Given the description of an element on the screen output the (x, y) to click on. 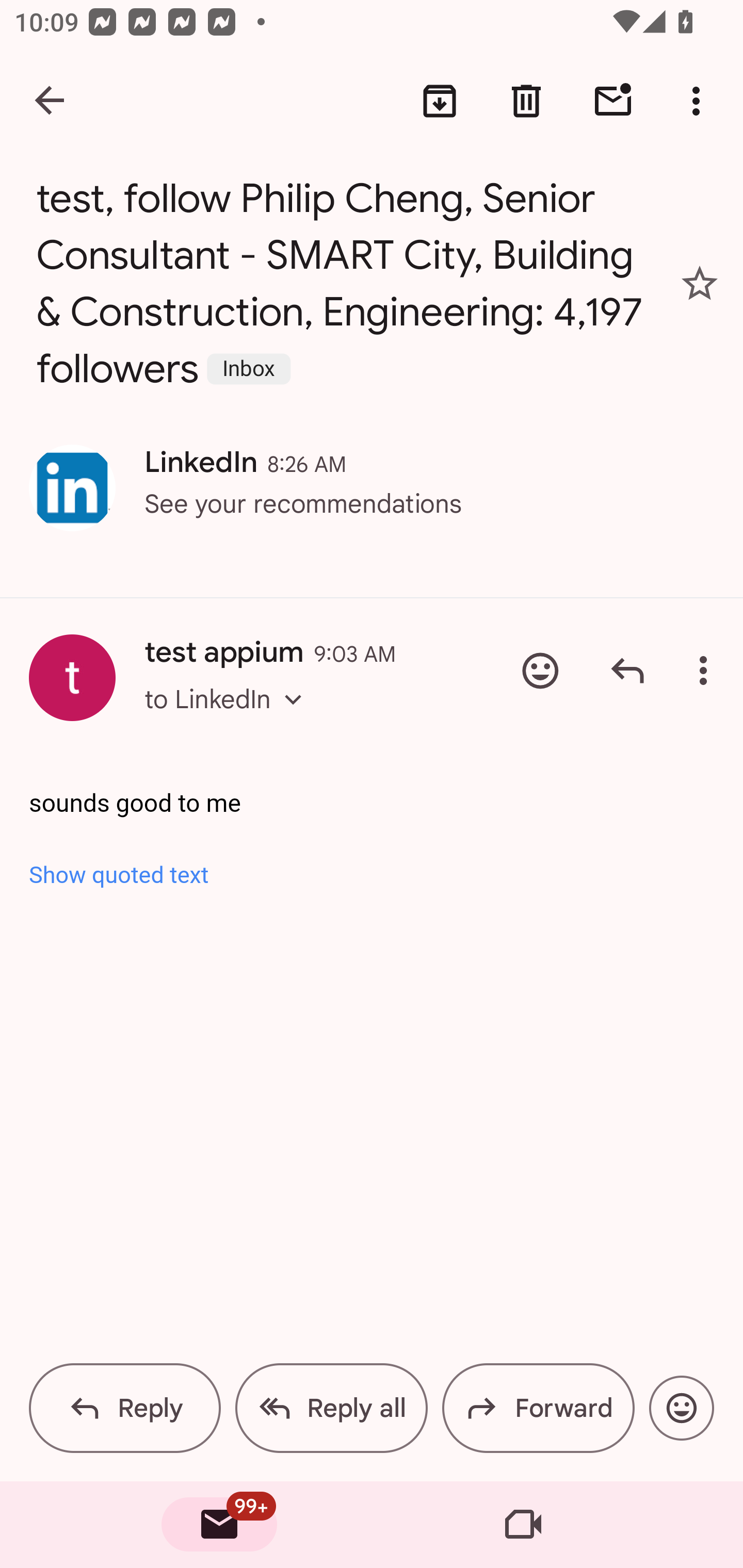
Navigate up (50, 101)
Archive (439, 101)
Delete (525, 101)
Mark unread (612, 101)
More options (699, 101)
Add star (699, 283)
Show contact information for LinkedIn (71, 488)
Add emoji reaction (540, 670)
Reply (626, 670)
More options (706, 670)
Show contact information for test appium (71, 678)
to LinkedIn (229, 717)
Reply (124, 1407)
Reply all (331, 1407)
Forward (538, 1407)
Add emoji reaction (681, 1407)
Meet (523, 1524)
